Given the description of an element on the screen output the (x, y) to click on. 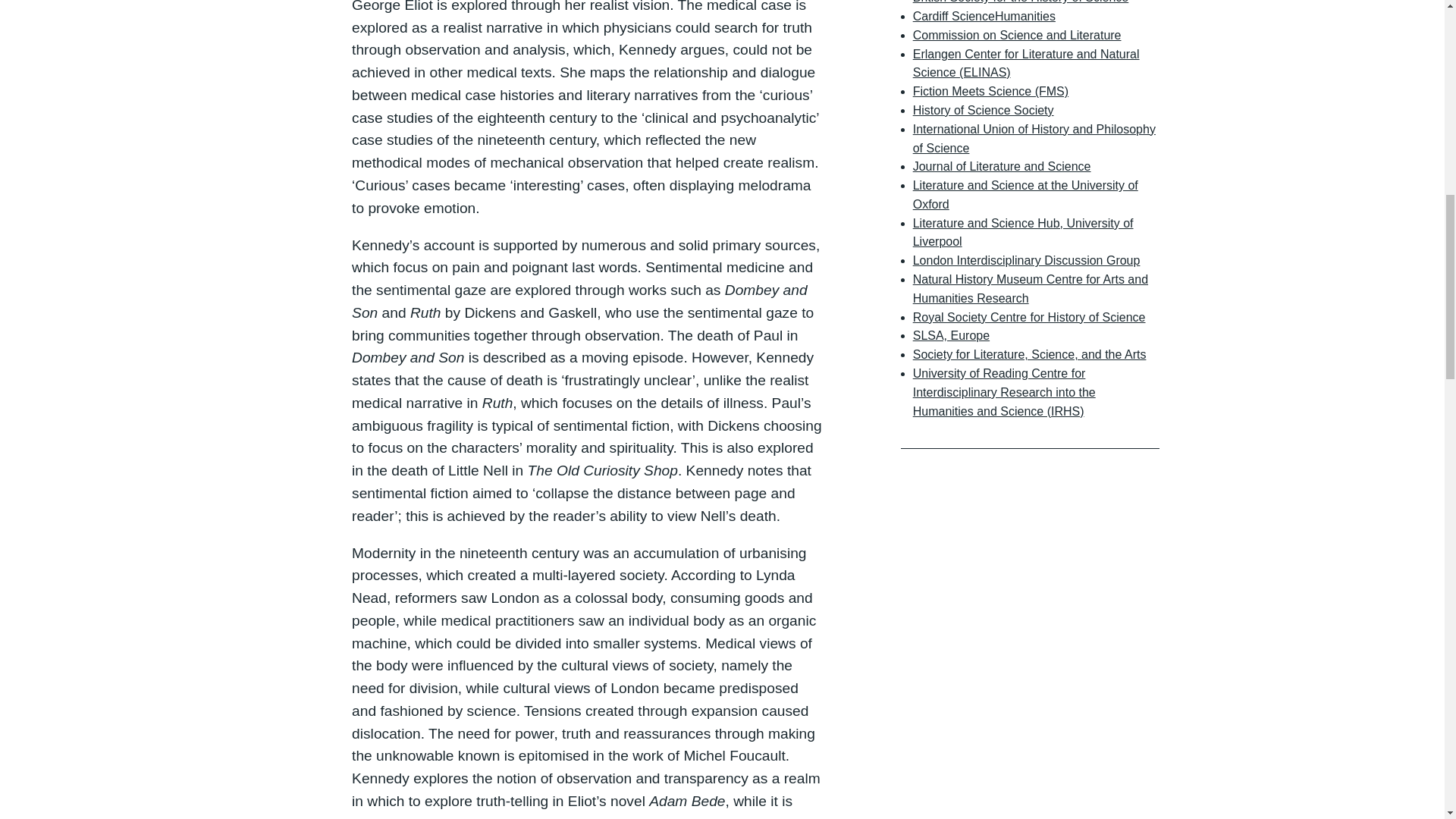
Commission on Science and Literature (1016, 34)
Cardiff ScienceHumanities (983, 15)
British Society for the History of Science (1020, 2)
